Given the description of an element on the screen output the (x, y) to click on. 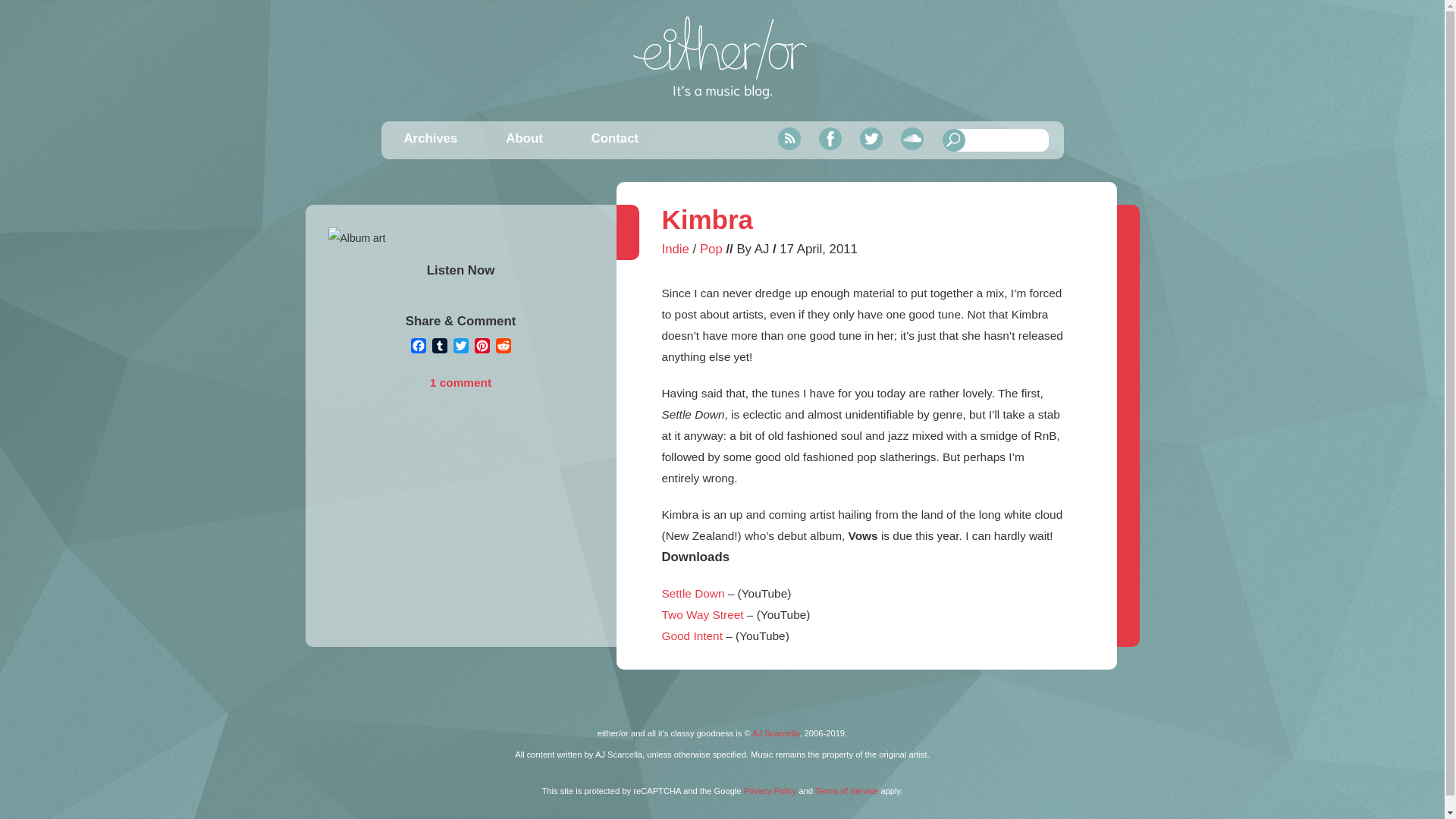
Indie (674, 248)
Settle Down (692, 593)
Terms of Service (846, 790)
Facebook (829, 137)
About (523, 138)
Good Intent (691, 635)
Kimbra (706, 219)
Contact (615, 138)
Soundcloud (912, 137)
Pop (711, 248)
Archives (430, 138)
AJ Scarcella (775, 732)
Twitter (871, 137)
RSS (788, 137)
Two Way Street (701, 614)
